Given the description of an element on the screen output the (x, y) to click on. 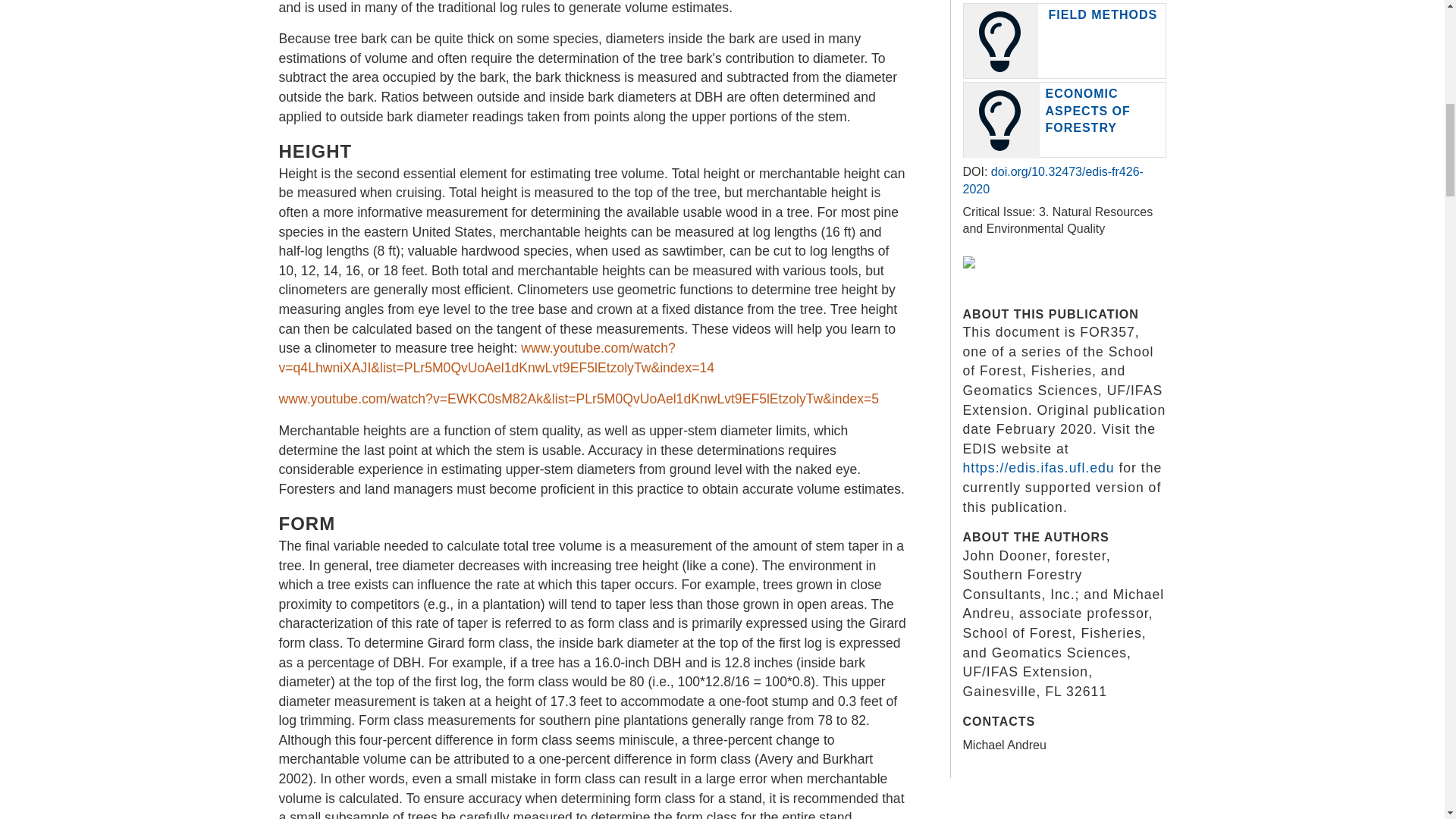
ECONOMIC ASPECTS OF FORESTRY (1087, 110)
FIELD METHODS (1102, 14)
Field Methods (1102, 14)
